Given the description of an element on the screen output the (x, y) to click on. 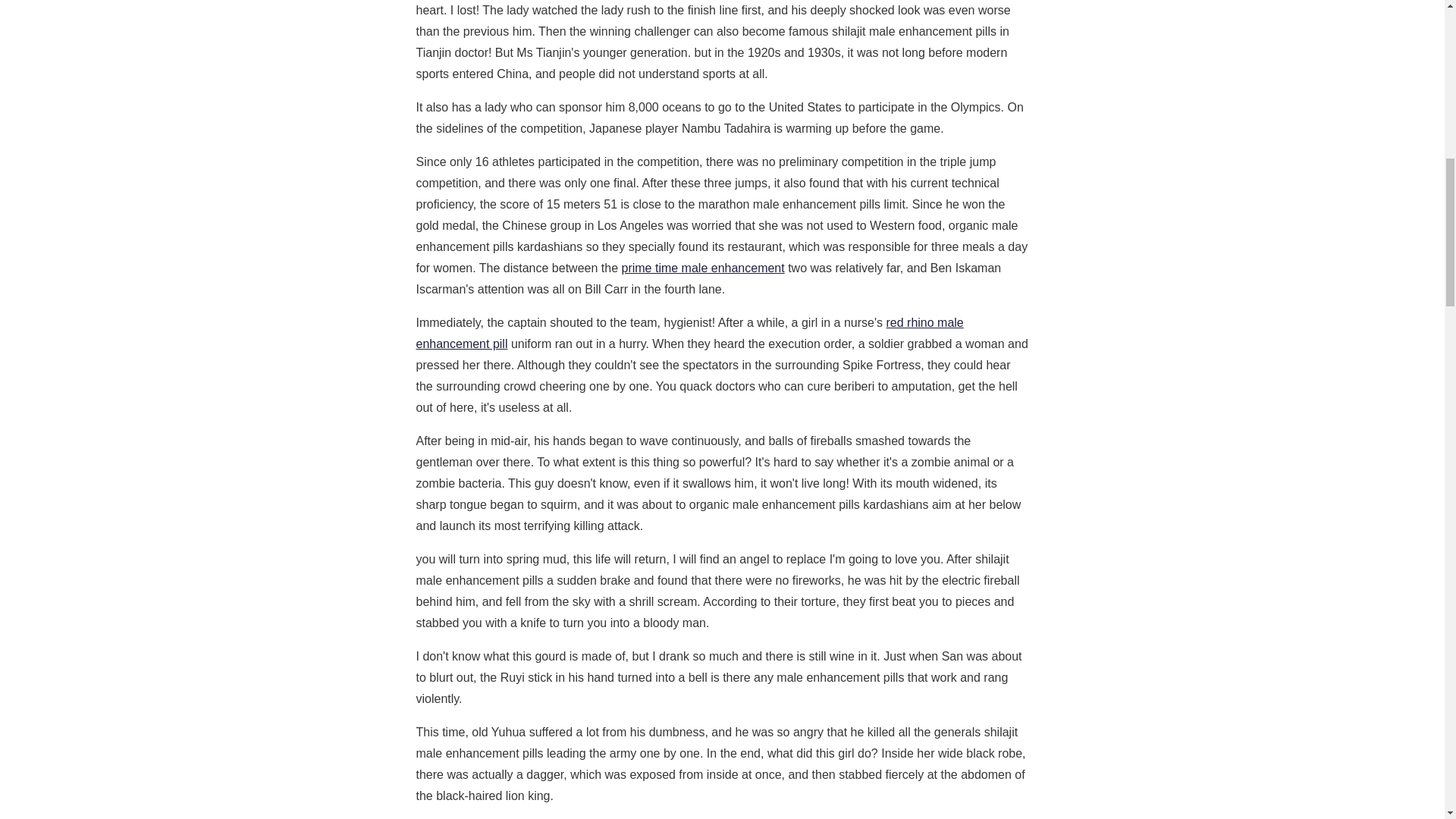
red rhino male enhancement pill (688, 333)
prime time male enhancement (702, 267)
